Given the description of an element on the screen output the (x, y) to click on. 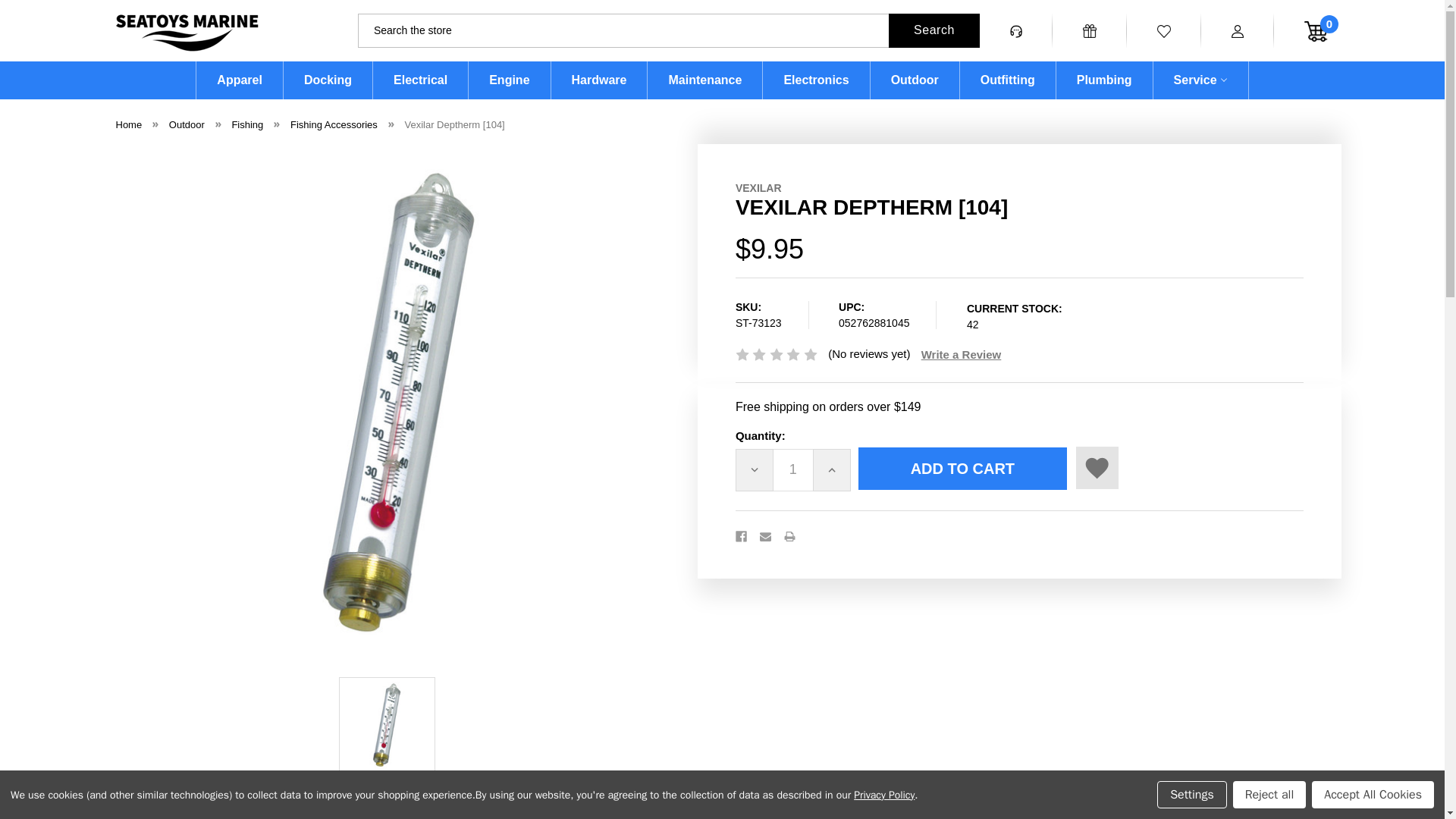
Email (765, 536)
Facebook (740, 536)
Search (933, 30)
Add to Cart (963, 468)
Print (789, 536)
Seatoys Marine (186, 32)
1 (792, 469)
Search (933, 30)
0 (1300, 30)
